Given the description of an element on the screen output the (x, y) to click on. 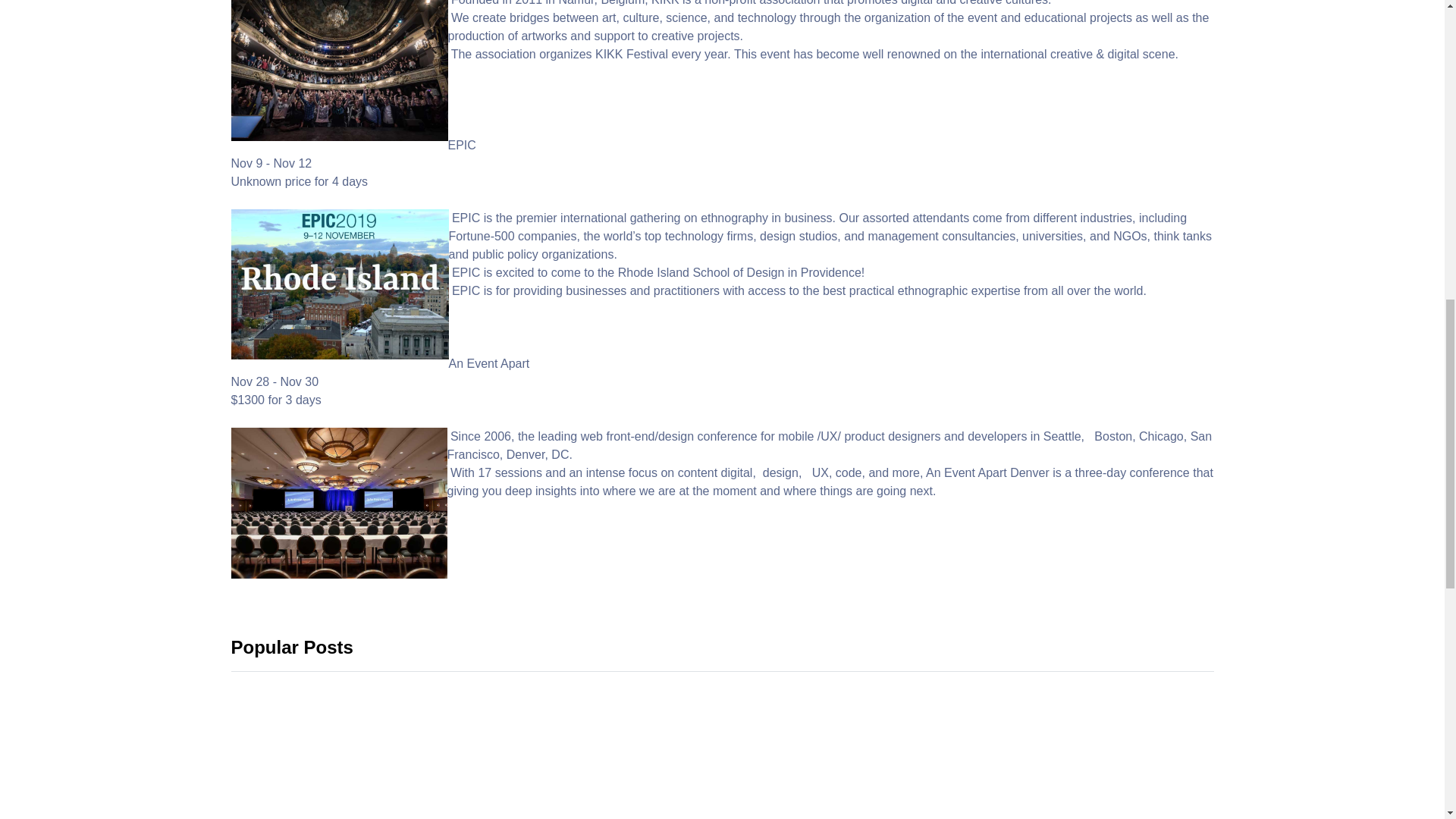
Popular Posts (291, 647)
